Given the description of an element on the screen output the (x, y) to click on. 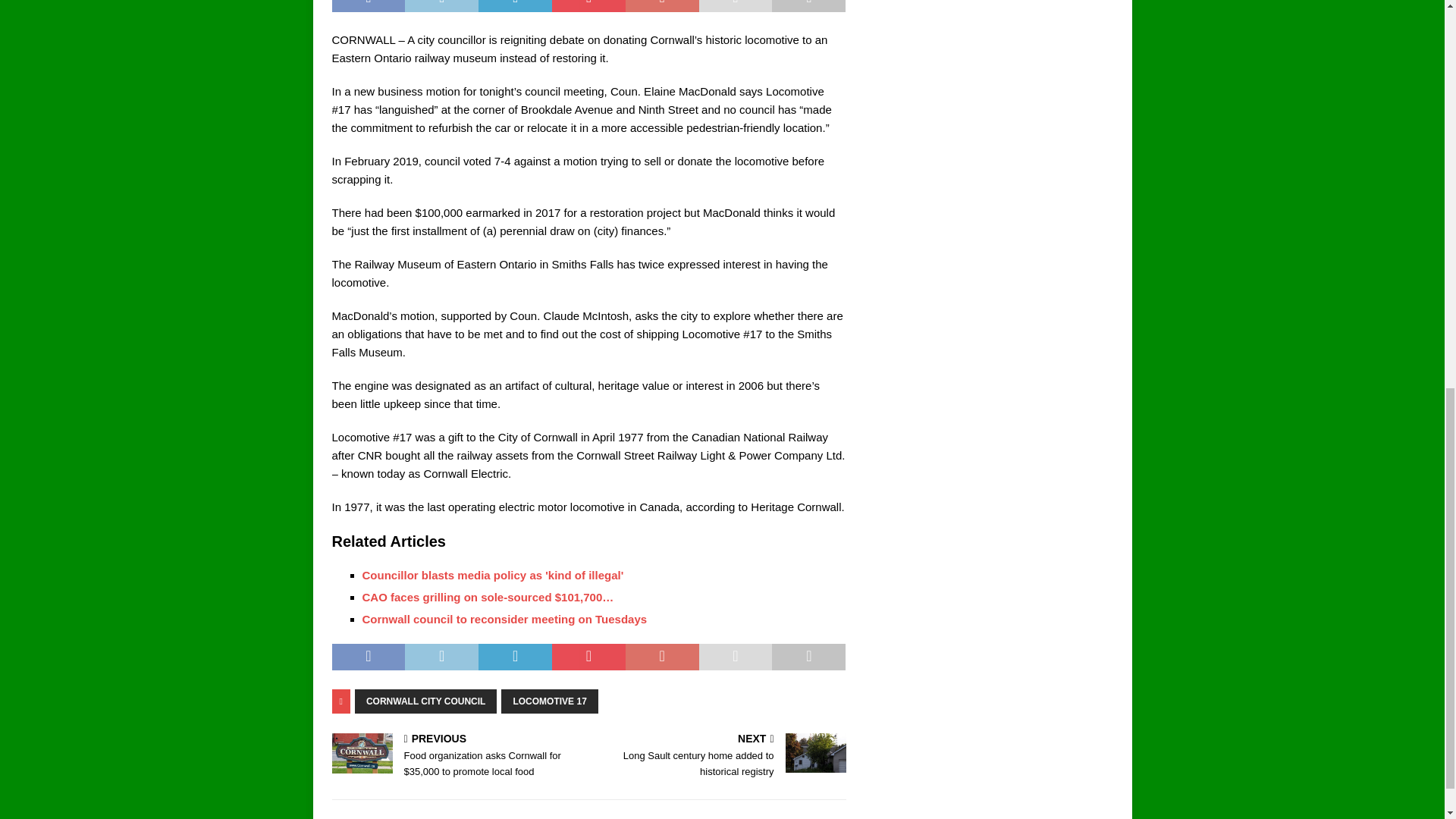
LOCOMOTIVE 17 (548, 701)
CORNWALL CITY COUNCIL (426, 701)
Cornwall council to reconsider meeting on Tuesdays (504, 618)
Councillor blasts media policy as 'kind of illegal' (720, 756)
